Given the description of an element on the screen output the (x, y) to click on. 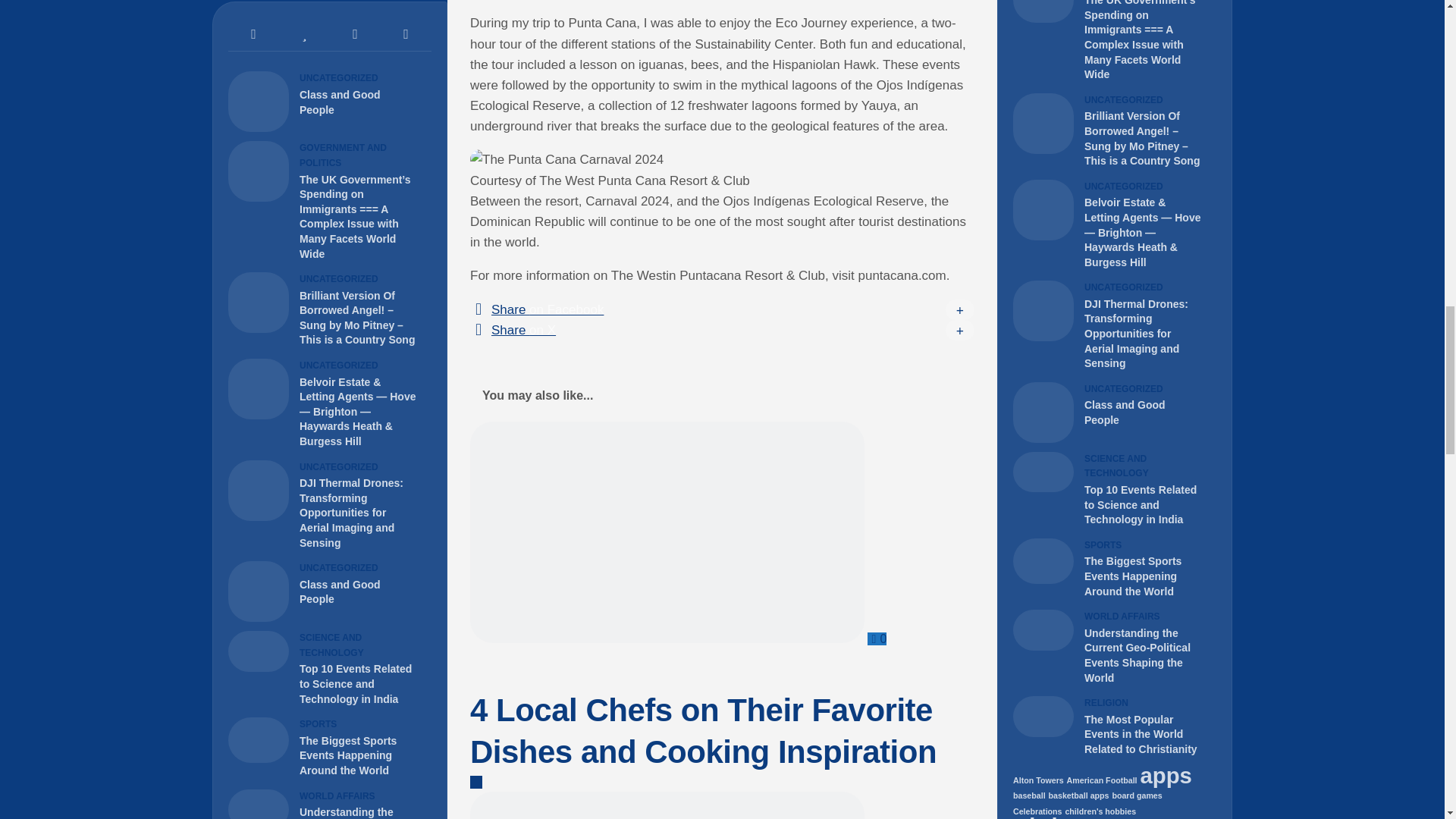
Popular Posts (304, 34)
Share on X (722, 330)
Tags (405, 34)
Share on Facebook (722, 309)
Recent Posts (253, 34)
Recent Comments (355, 34)
0 (876, 638)
